Given the description of an element on the screen output the (x, y) to click on. 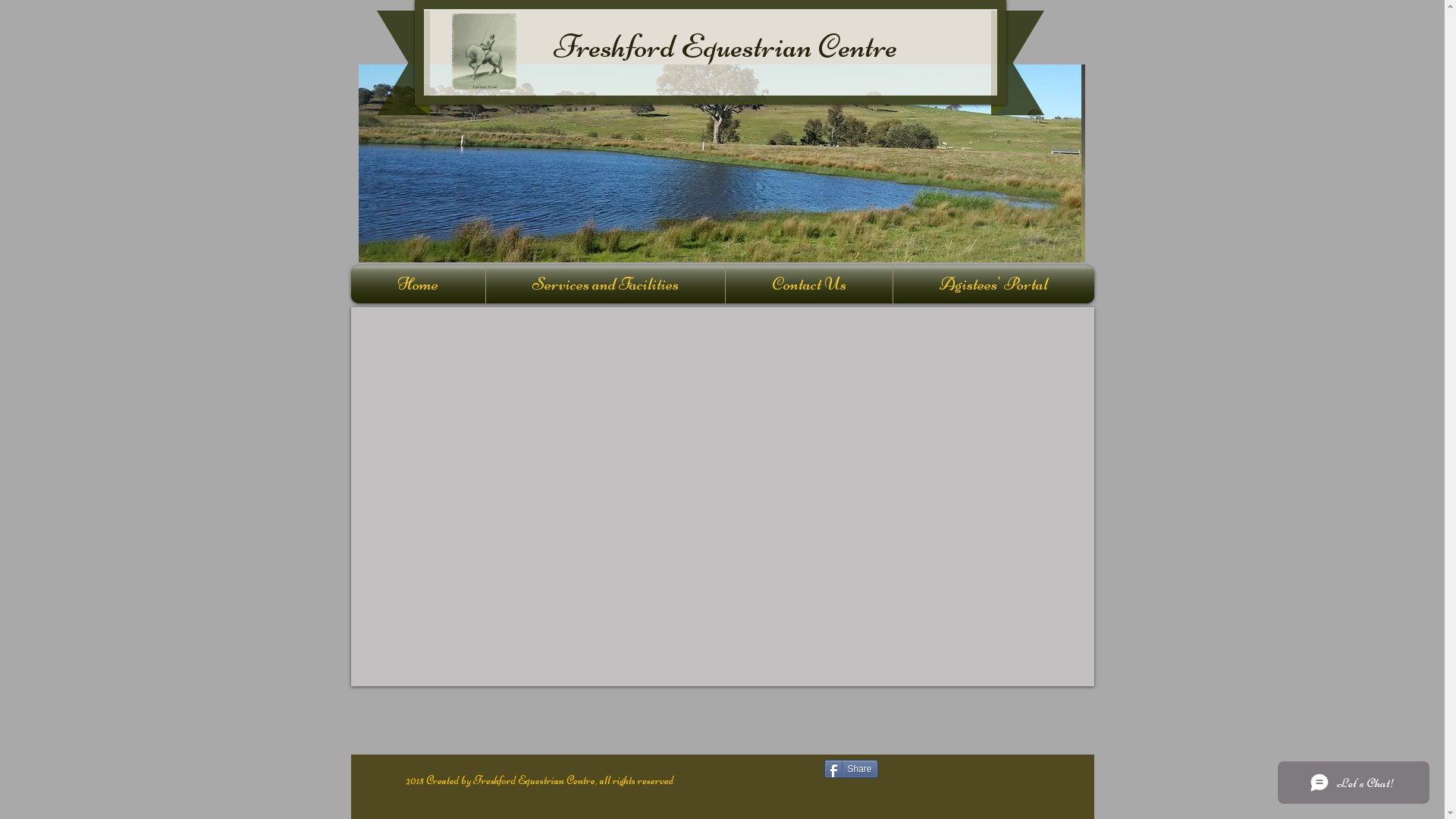
Services and Facilities Element type: text (604, 284)
Home Element type: text (417, 284)
horse agistment logo Element type: hover (483, 51)
Agistees' Portal Element type: text (993, 284)
Contact Us Element type: text (807, 284)
Facebook Like Element type: hover (987, 774)
Share Element type: text (850, 768)
